Given the description of an element on the screen output the (x, y) to click on. 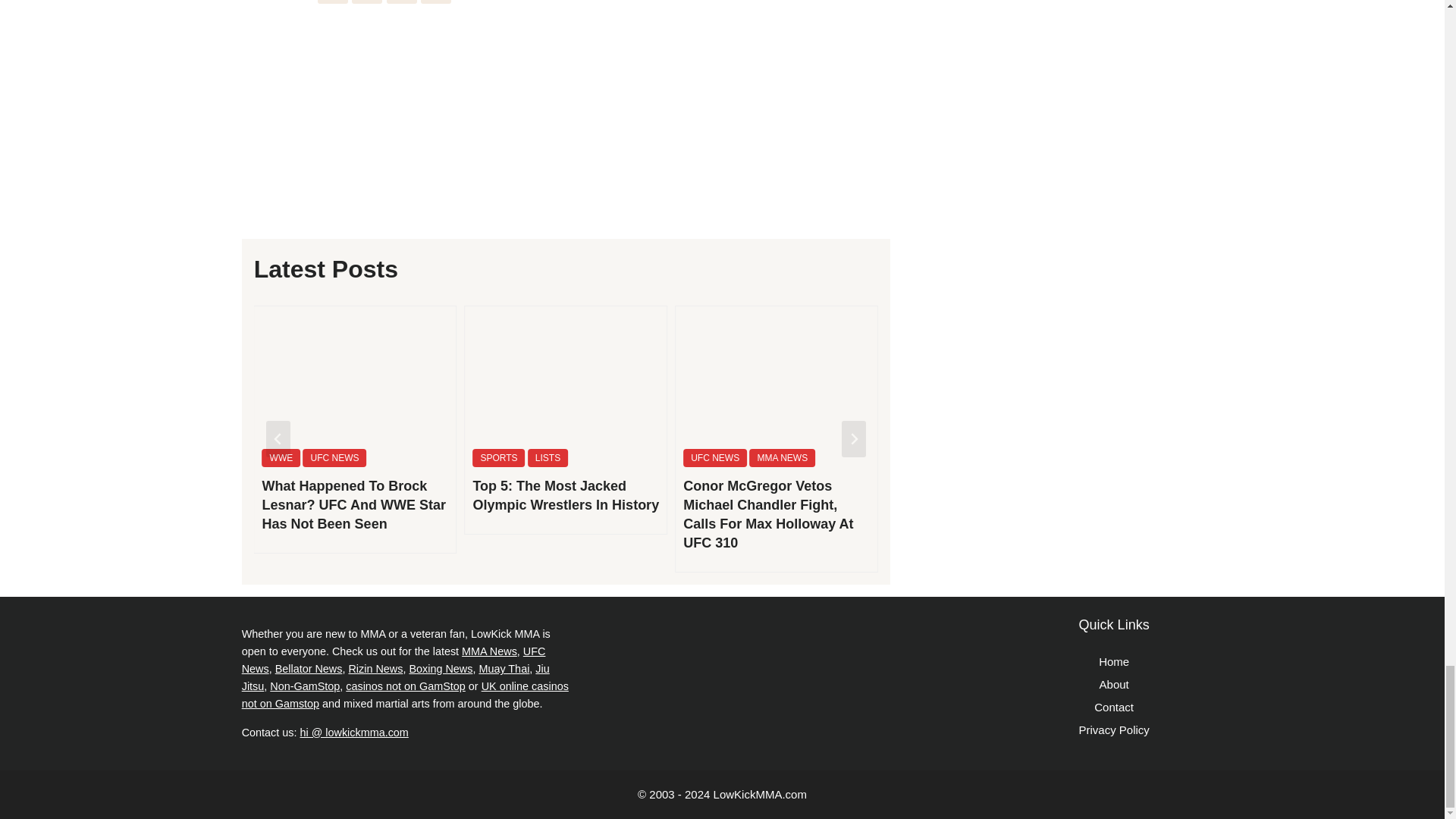
Follow Jon Fuentes on Linkedin (435, 2)
Follow Jon Fuentes on Instagram (366, 2)
Follow Jon Fuentes on Youtube (401, 2)
Follow Jon Fuentes on X formerly Twitter (332, 2)
